Given the description of an element on the screen output the (x, y) to click on. 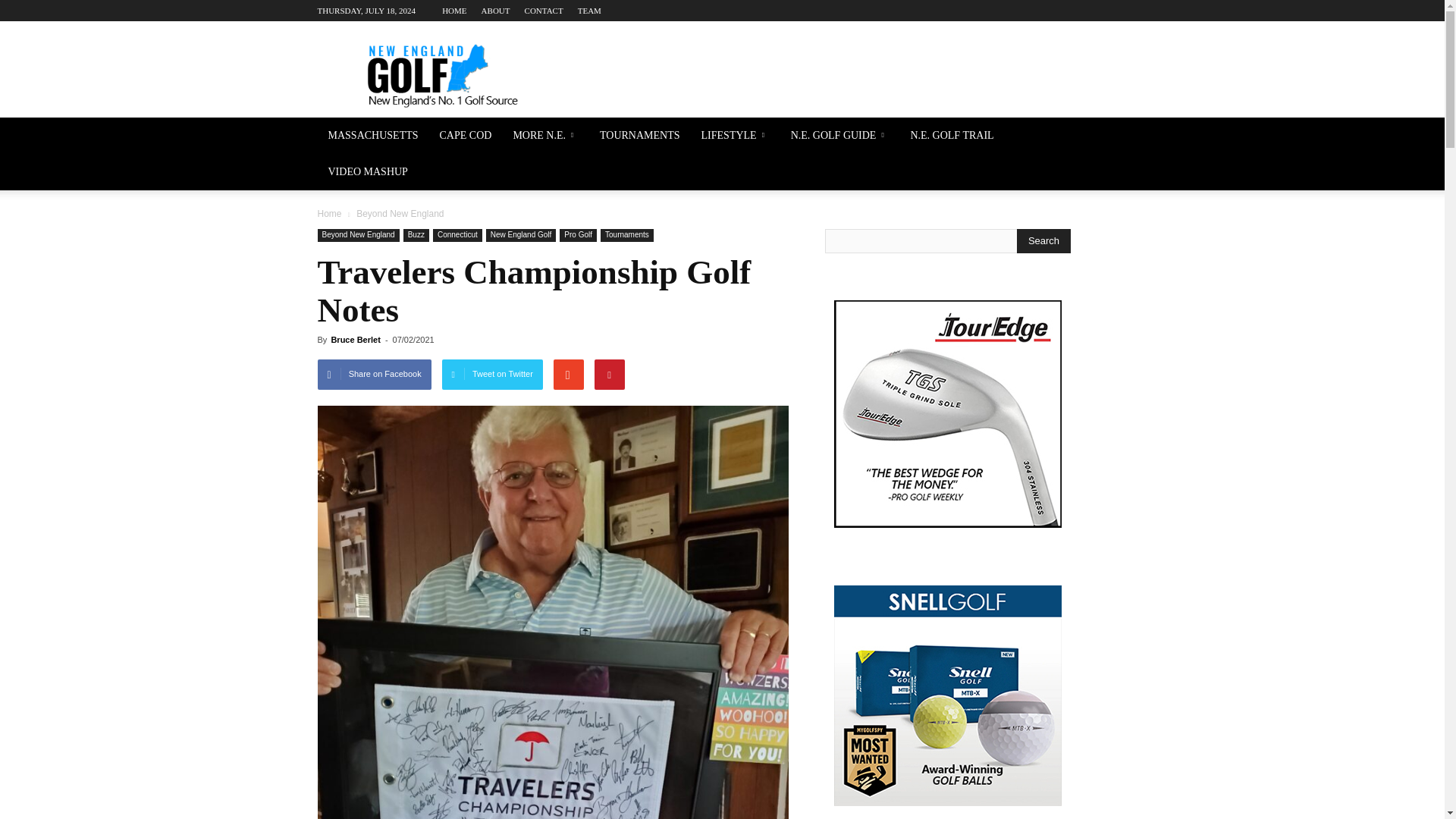
Search (1043, 241)
ABOUT (496, 10)
CAPE COD (465, 135)
TEAM (589, 10)
MASSACHUSETTS (372, 135)
CONTACT (543, 10)
New England Golf Hub (446, 76)
MORE N.E. (545, 135)
HOME (453, 10)
Advertisement (850, 76)
